Given the description of an element on the screen output the (x, y) to click on. 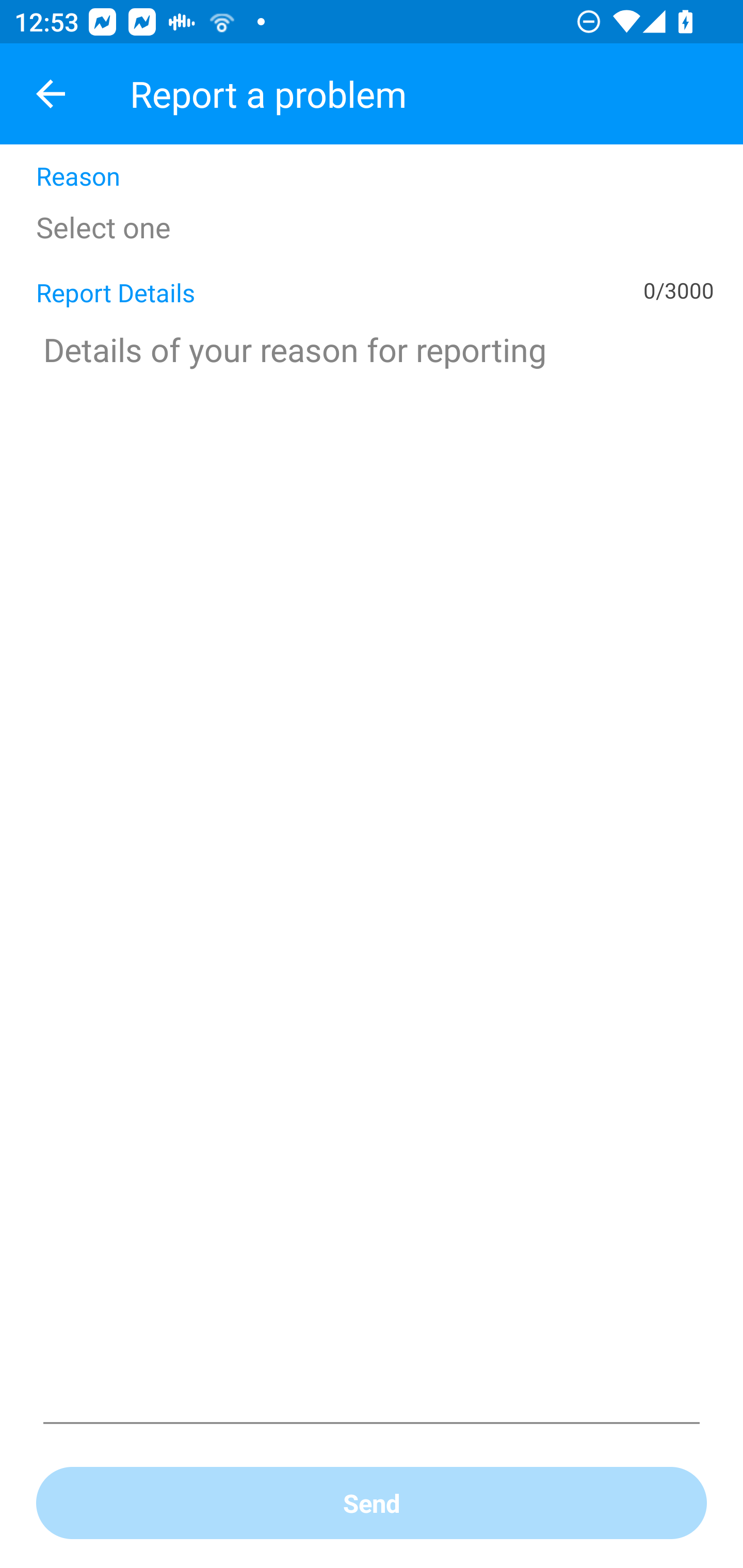
Navigate up (50, 93)
Reason Select one (371, 202)
Details of your reason for reporting (371, 872)
Send (371, 1503)
